Given the description of an element on the screen output the (x, y) to click on. 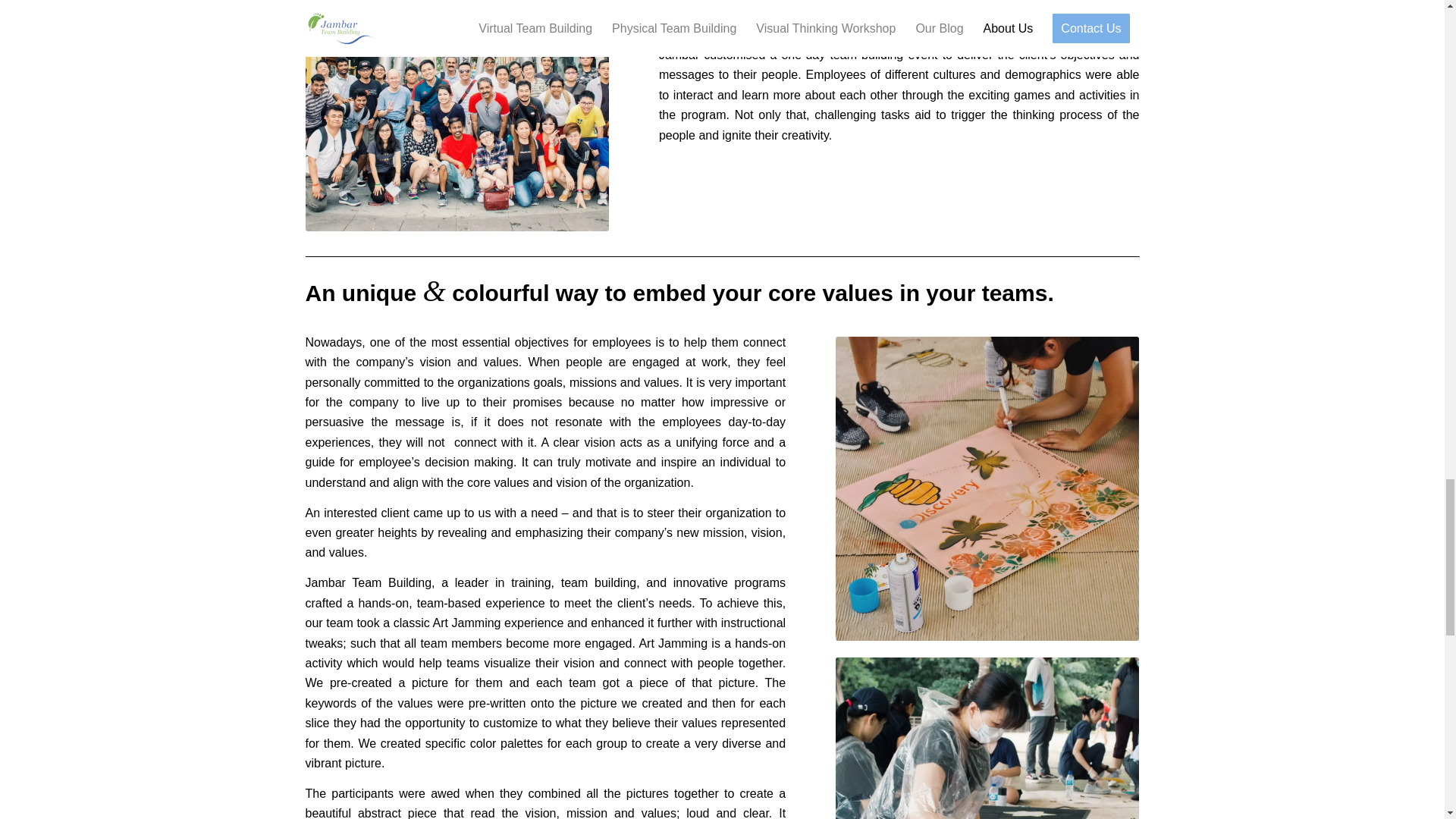
Processed with VSCO with g3 preset (986, 738)
Gallery97 (986, 487)
